Given the description of an element on the screen output the (x, y) to click on. 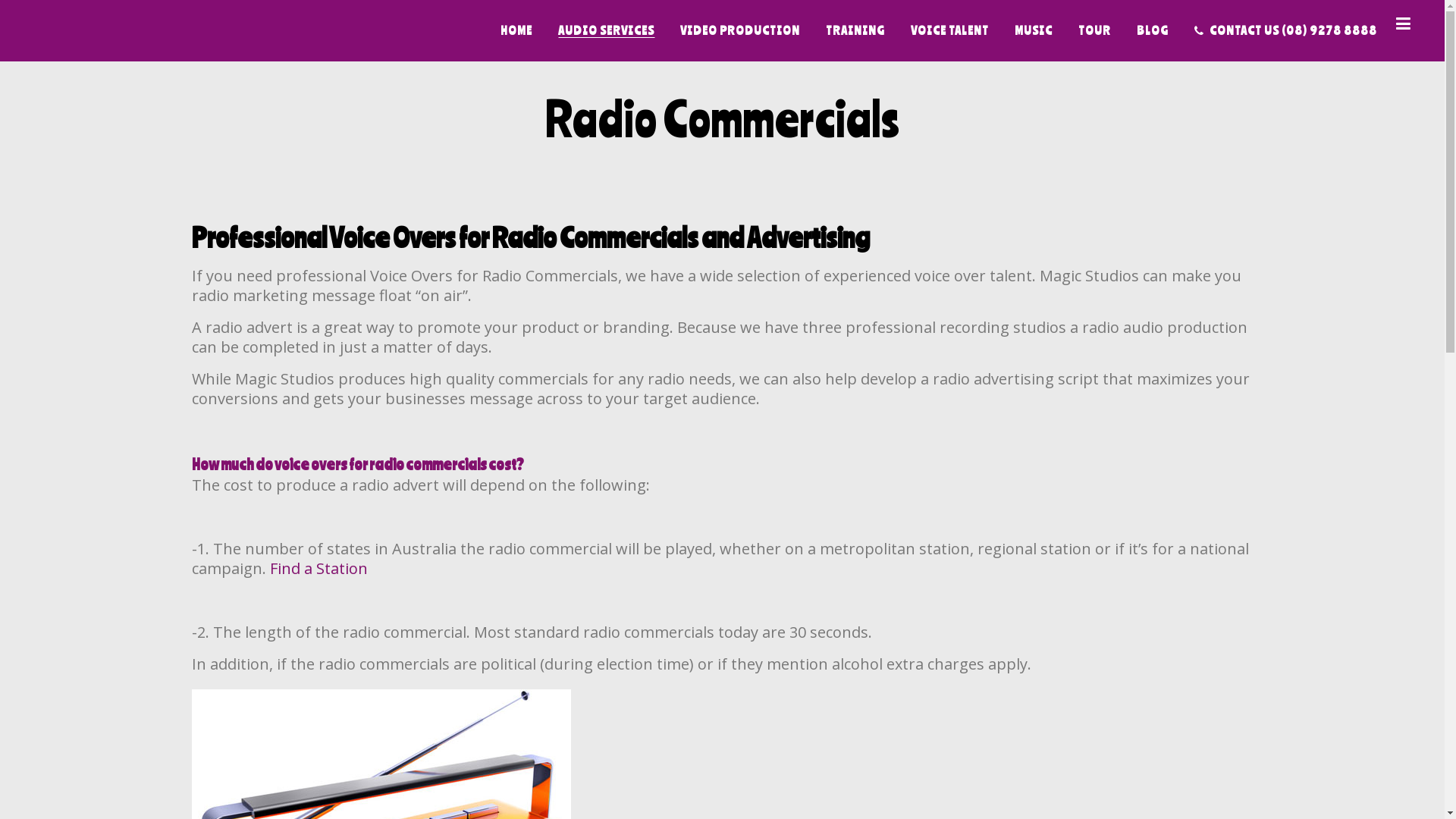
CONTACT US (08) 9278 8888 Element type: text (1285, 30)
Find a Station Element type: text (318, 568)
VOICE TALENT Element type: text (949, 30)
TOUR Element type: text (1094, 30)
MUSIC Element type: text (1033, 30)
VIDEO PRODUCTION Element type: text (739, 30)
HOME Element type: text (516, 30)
TRAINING Element type: text (854, 30)
BLOG Element type: text (1152, 30)
AUDIO SERVICES Element type: text (606, 30)
